Given the description of an element on the screen output the (x, y) to click on. 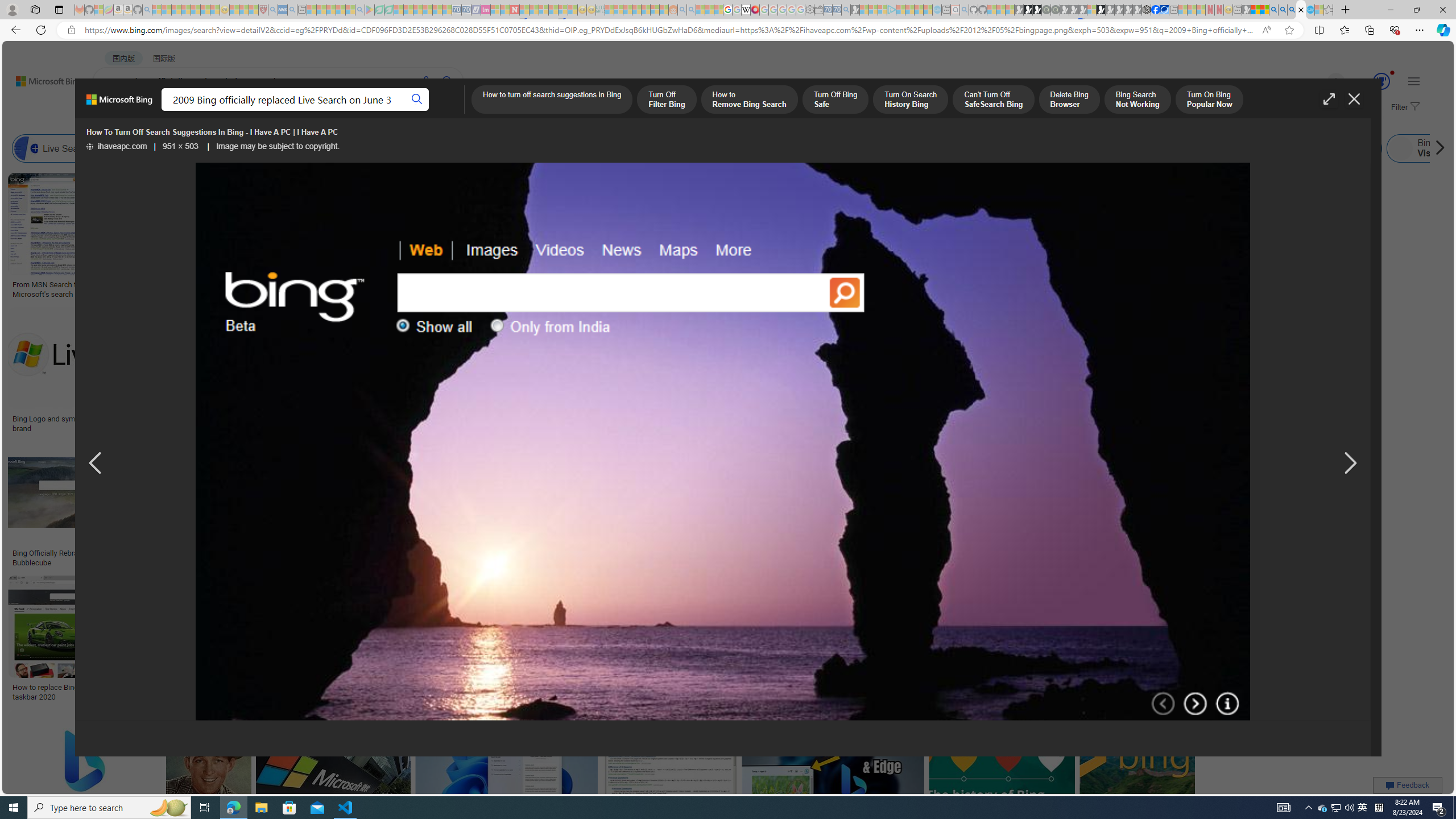
How to Remove Bing Search (748, 100)
Turn Off Filter Bing (666, 100)
